Given the description of an element on the screen output the (x, y) to click on. 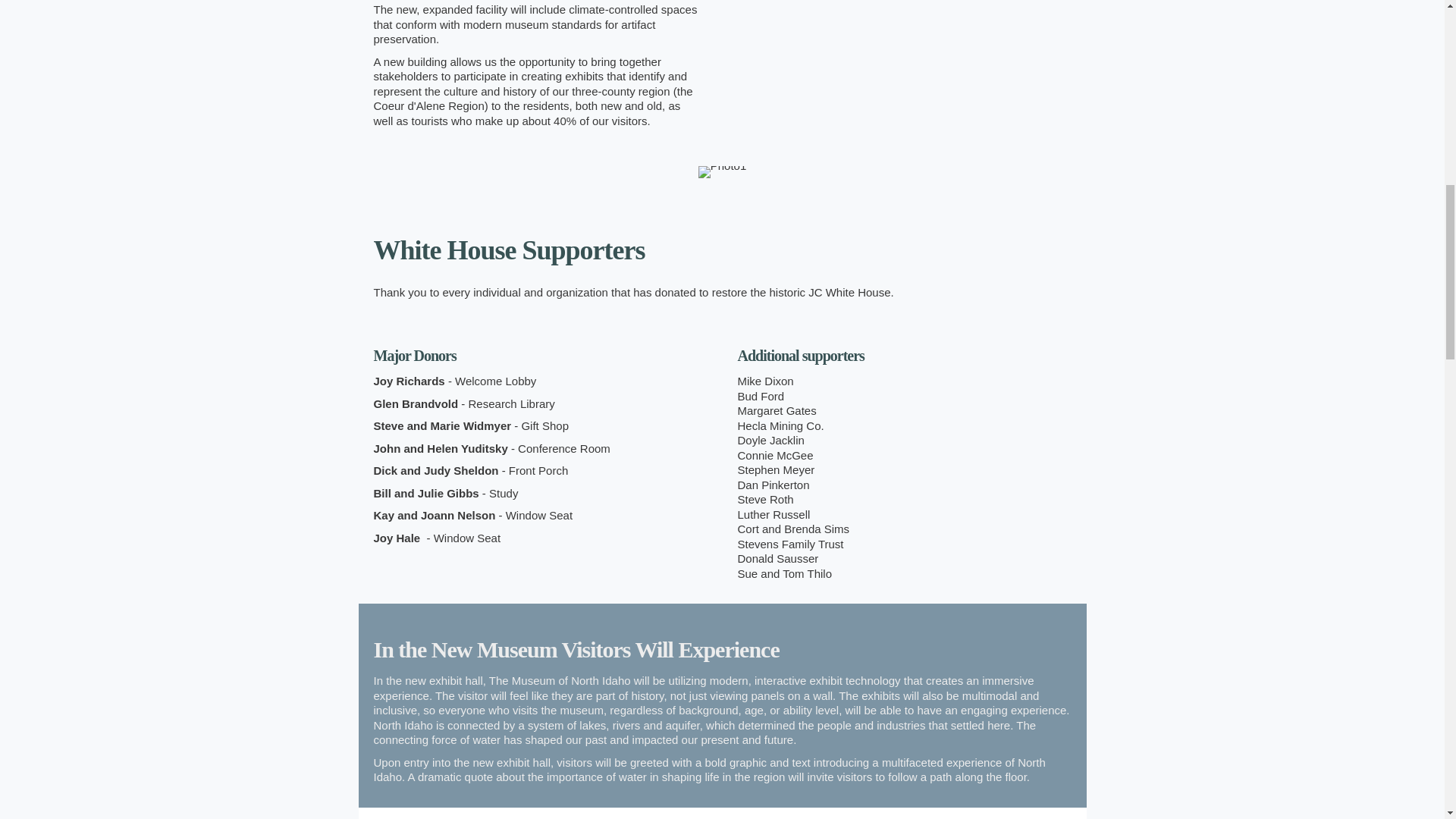
Photo1 (722, 172)
